Given the description of an element on the screen output the (x, y) to click on. 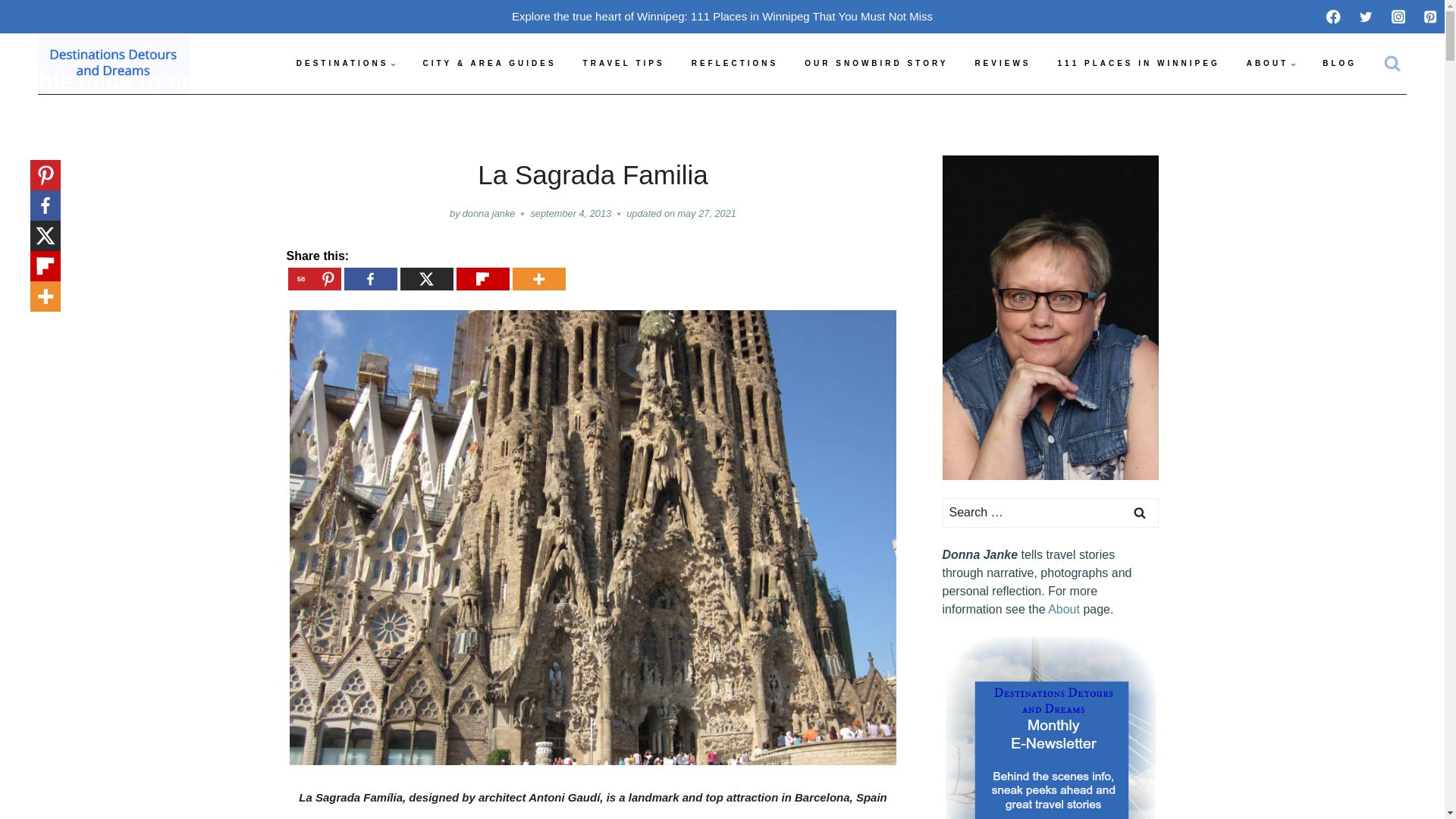
TRAVEL TIPS (623, 63)
Flipboard (483, 278)
REVIEWS (1001, 63)
Pinterest (314, 278)
X (426, 278)
Facebook (370, 278)
BLOG (1339, 63)
Search (1139, 512)
58 (314, 278)
Search (1139, 512)
ABOUT (1270, 63)
REFLECTIONS (735, 63)
Travel Thoughts (735, 63)
OUR SNOWBIRD STORY (876, 63)
